Given the description of an element on the screen output the (x, y) to click on. 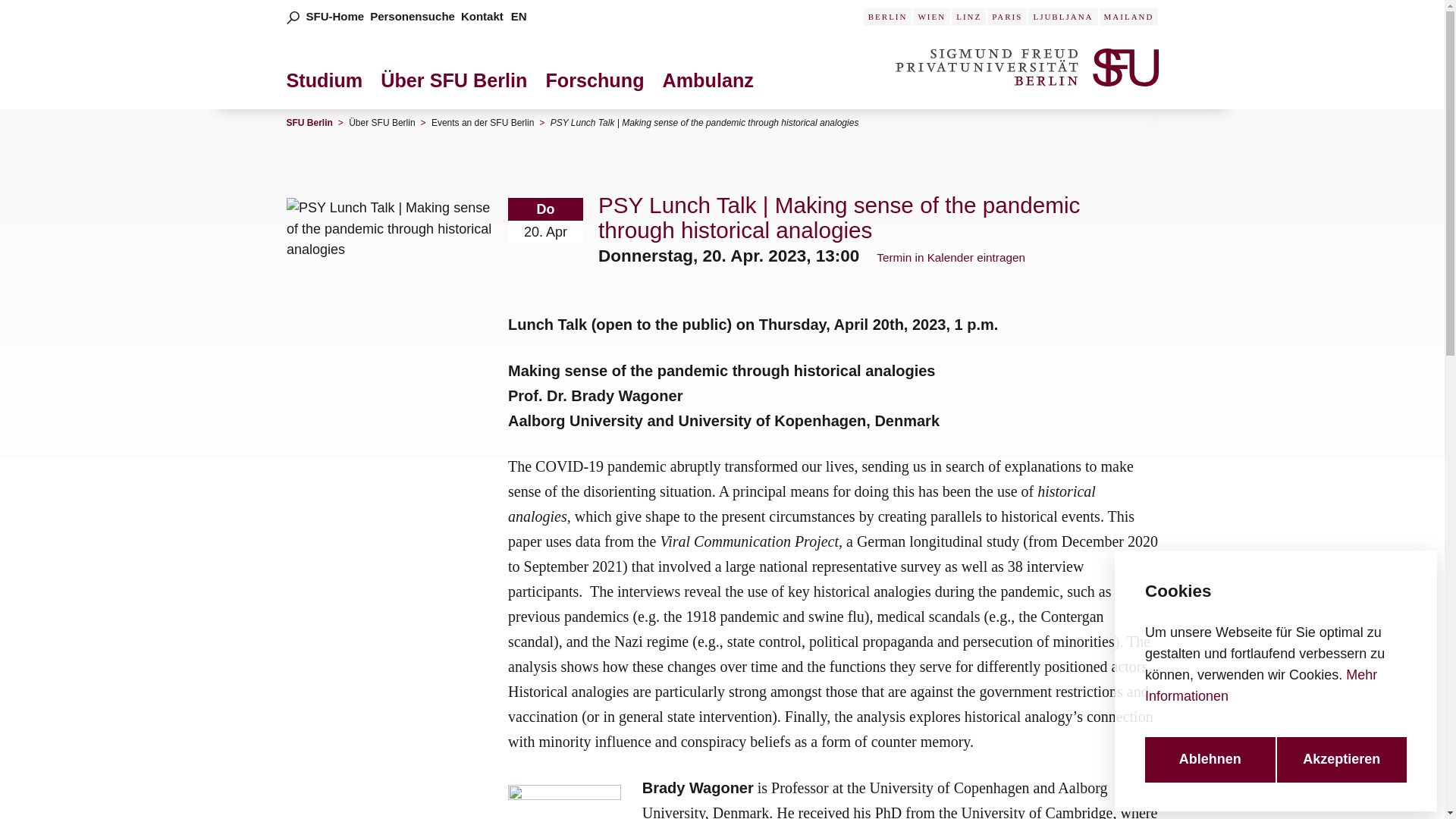
WIEN (931, 16)
Studium (329, 85)
Studium (329, 85)
Personensuche (411, 16)
LINZ (968, 16)
Kontakt (482, 16)
SFU-Home (335, 16)
BERLIN (887, 16)
English (519, 16)
MAILAND (1128, 16)
